Given the description of an element on the screen output the (x, y) to click on. 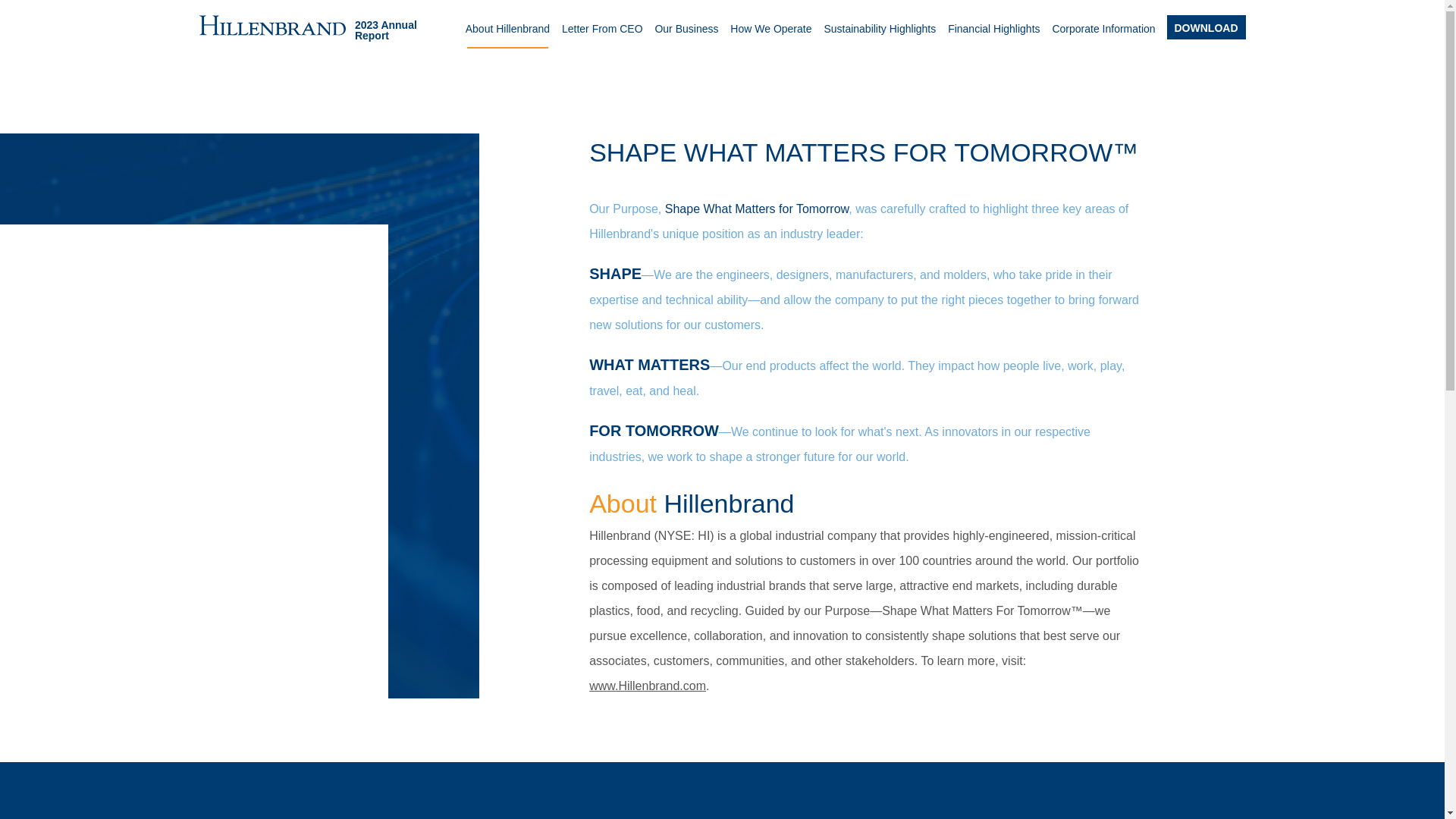
Corporate Information (1102, 34)
Sustainability Highlights (879, 34)
Financial Highlights (993, 34)
DOWNLOAD (1205, 27)
2023 Annual Report (325, 30)
Our Business (685, 34)
About Hillenbrand (507, 34)
Letter From CEO (602, 34)
How We Operate (770, 34)
www.Hillenbrand.com (647, 685)
